Given the description of an element on the screen output the (x, y) to click on. 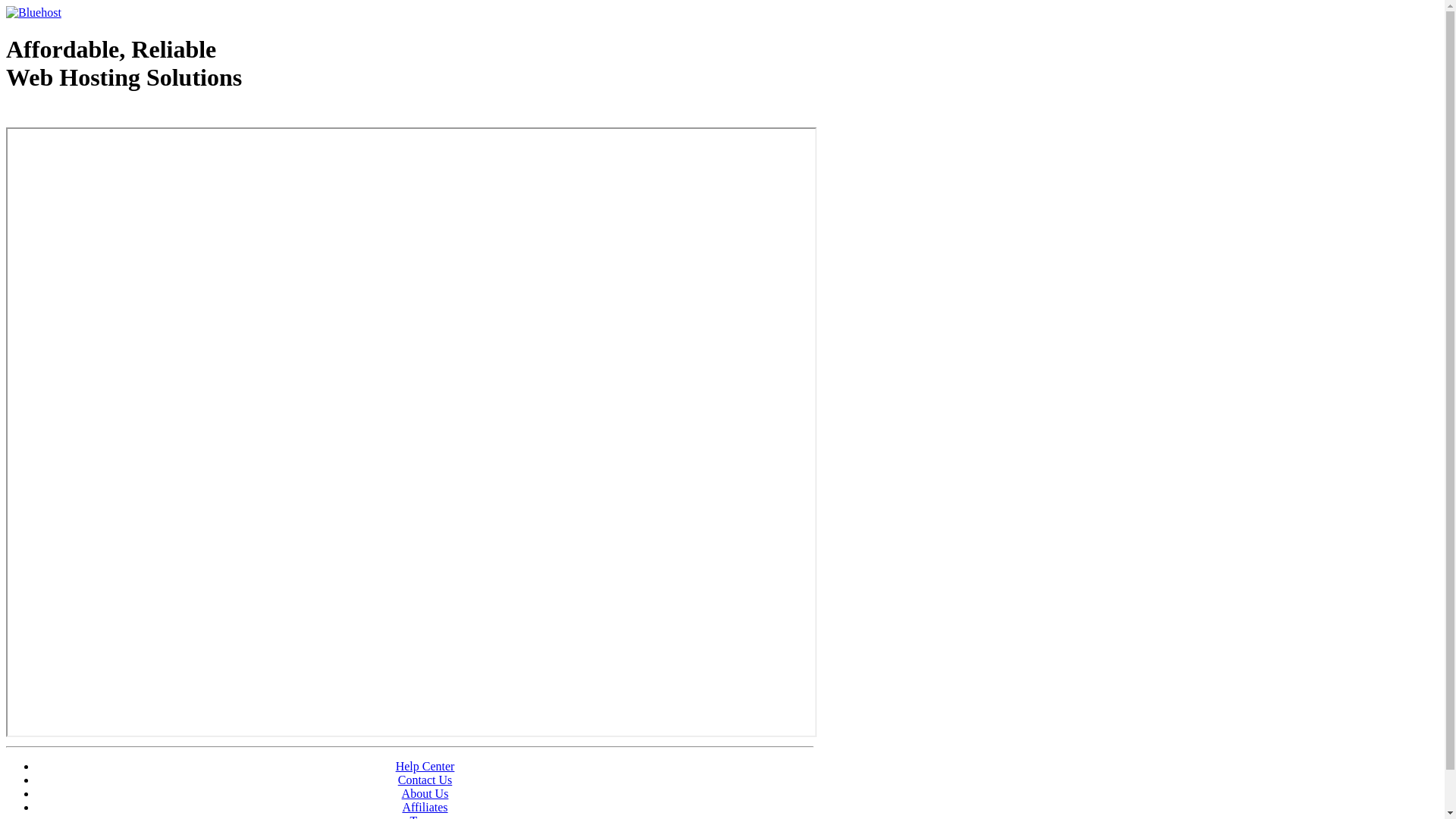
About Us Element type: text (424, 793)
Web Hosting - courtesy of www.bluehost.com Element type: text (94, 115)
Affiliates Element type: text (424, 806)
Contact Us Element type: text (425, 779)
Help Center Element type: text (425, 765)
